Given the description of an element on the screen output the (x, y) to click on. 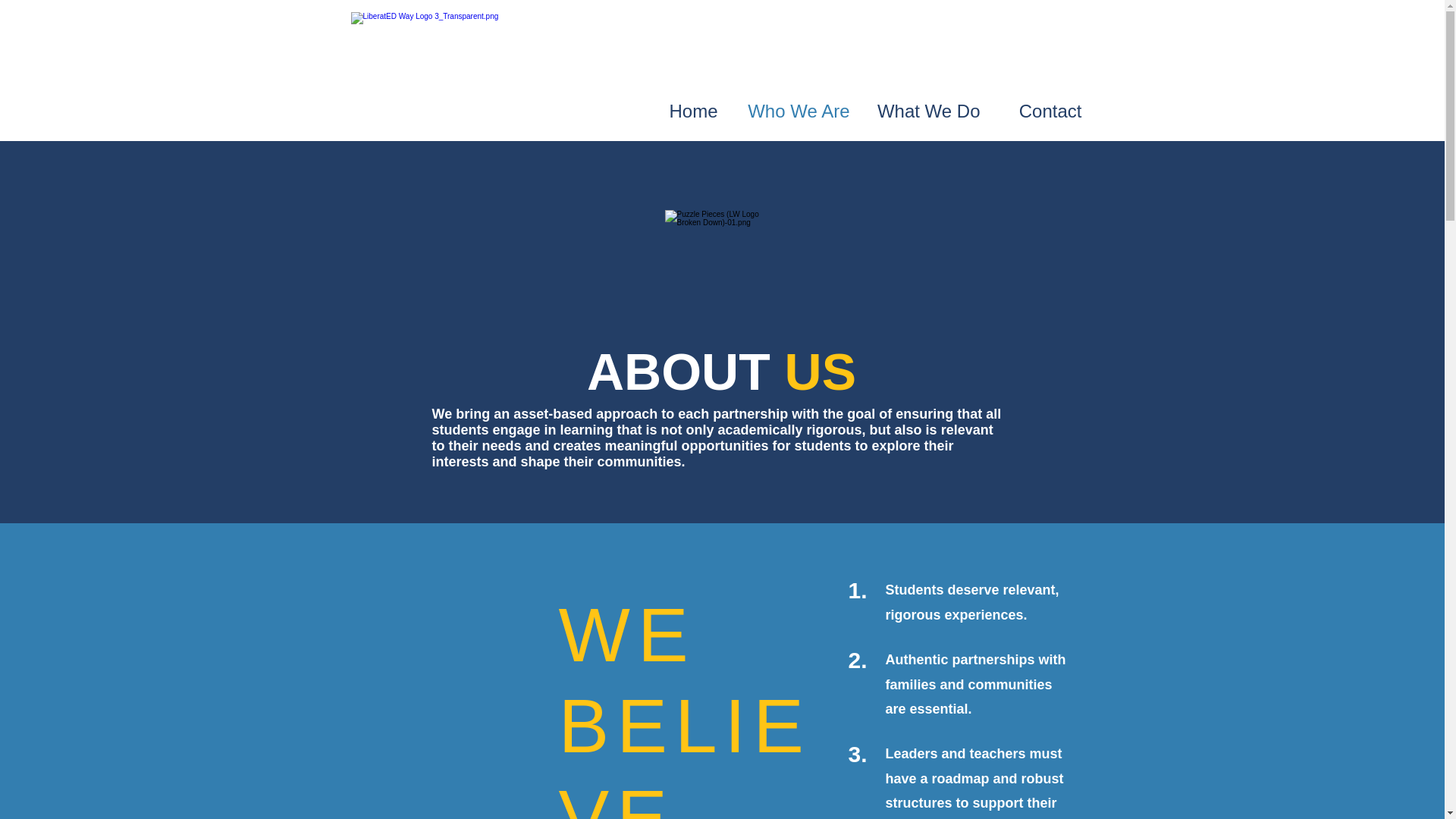
What We Do (926, 110)
Contact (1042, 110)
Home (683, 110)
Who We Are (795, 110)
